Given the description of an element on the screen output the (x, y) to click on. 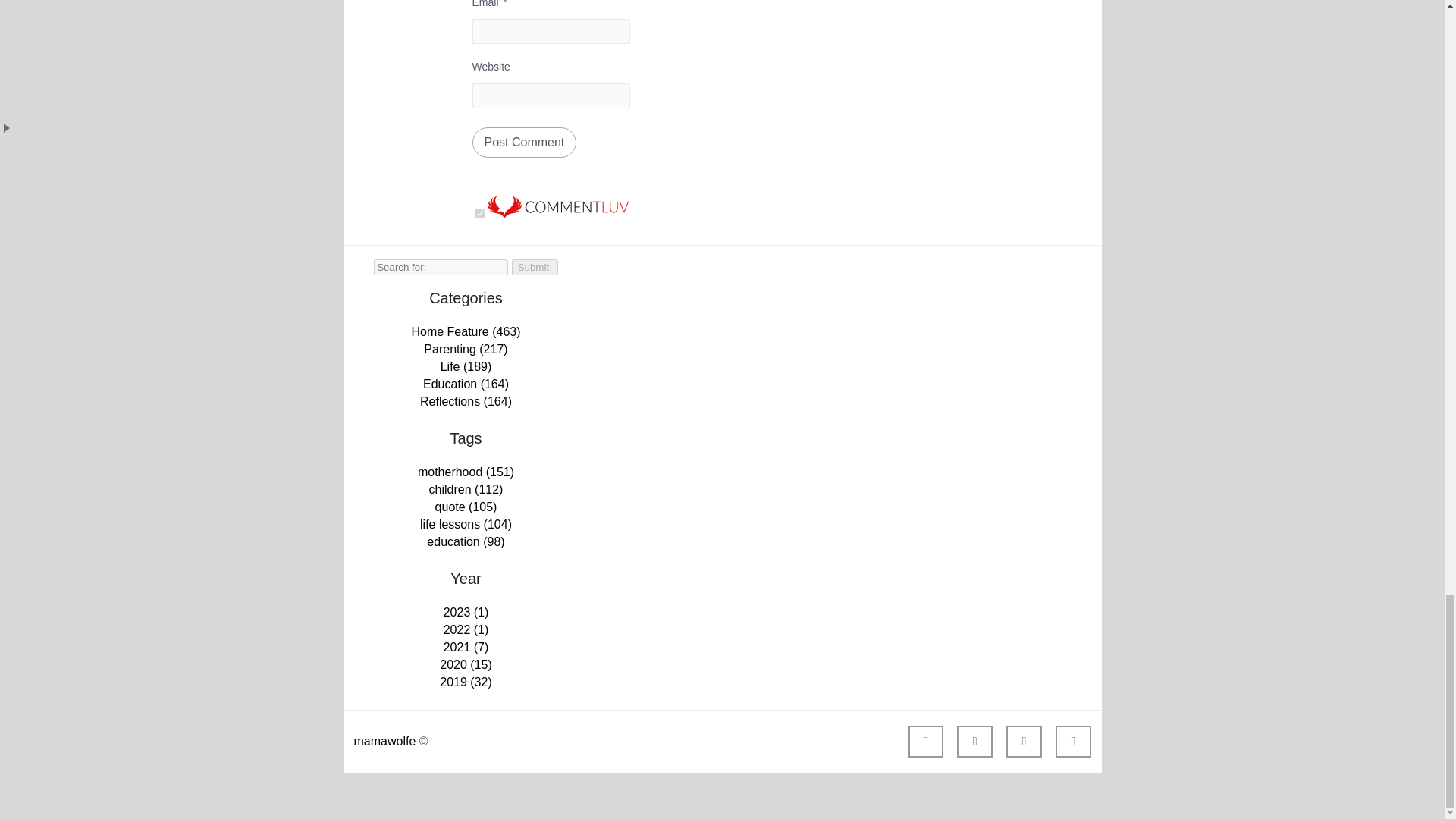
Submit  (534, 267)
Submit  (534, 267)
Facebook (925, 741)
CommentLuv is enabled (556, 214)
Post Comment (523, 142)
on (479, 213)
Post Comment (523, 142)
